Given the description of an element on the screen output the (x, y) to click on. 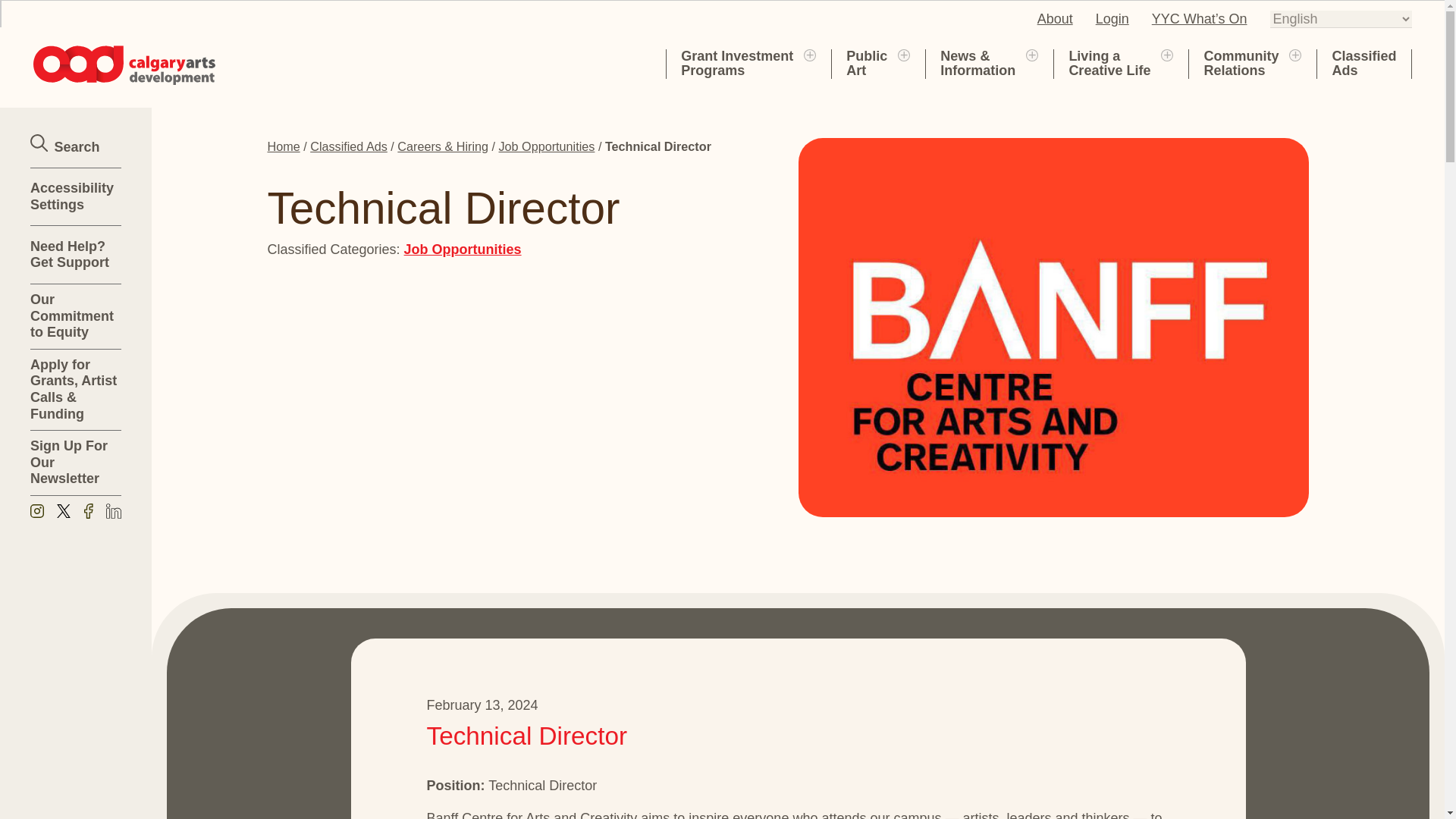
Expand Community Relations Submenu (1294, 54)
Job Opportunities (865, 63)
About (462, 249)
Login (1054, 17)
Expand Living a Creative Life Submenu (737, 63)
Expand Public Art Submenu (1112, 17)
Expand Grant Investment Programs Submenu (1166, 54)
